Given the description of an element on the screen output the (x, y) to click on. 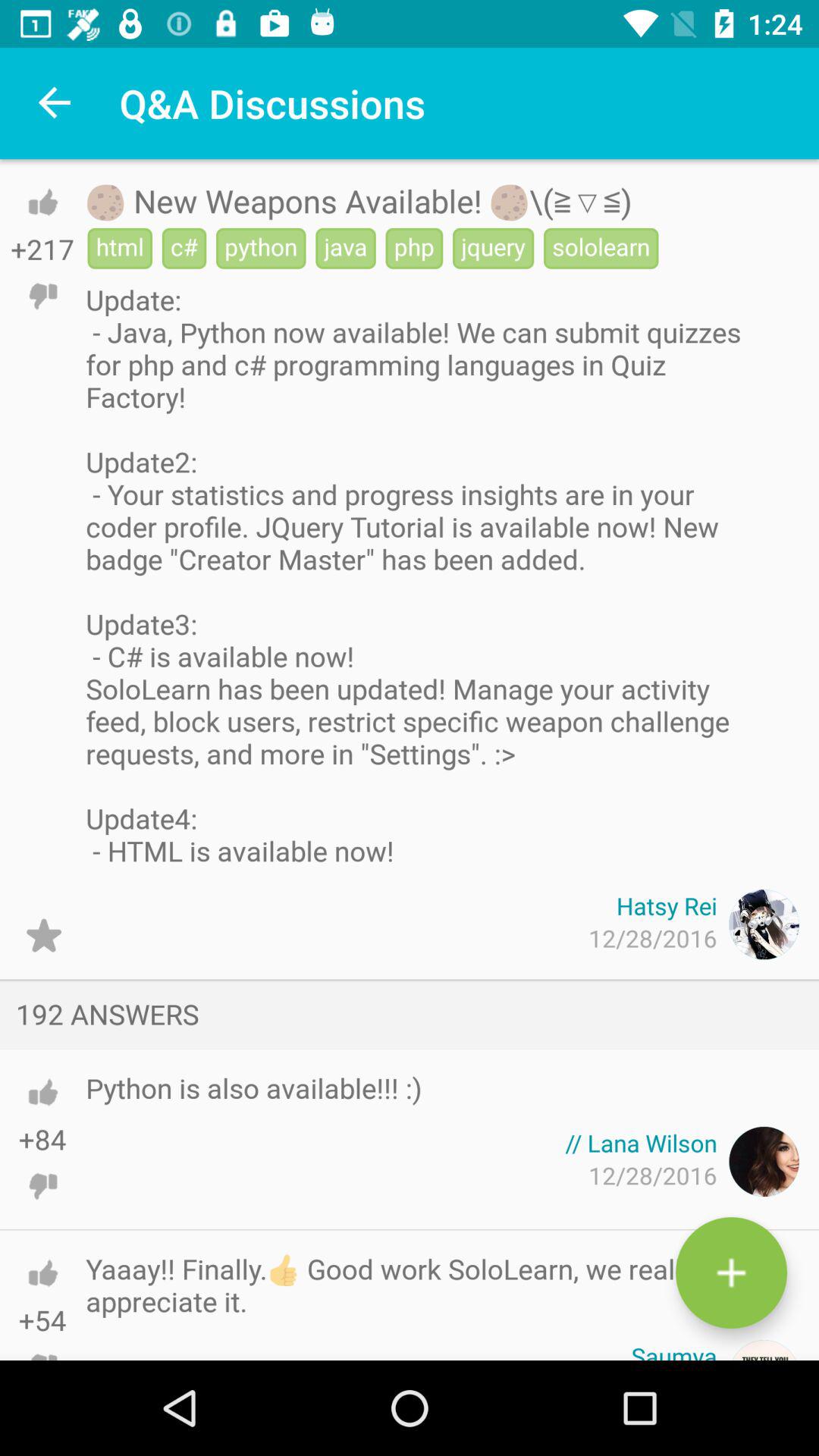
press item next to the 12/28/2016 (43, 935)
